Given the description of an element on the screen output the (x, y) to click on. 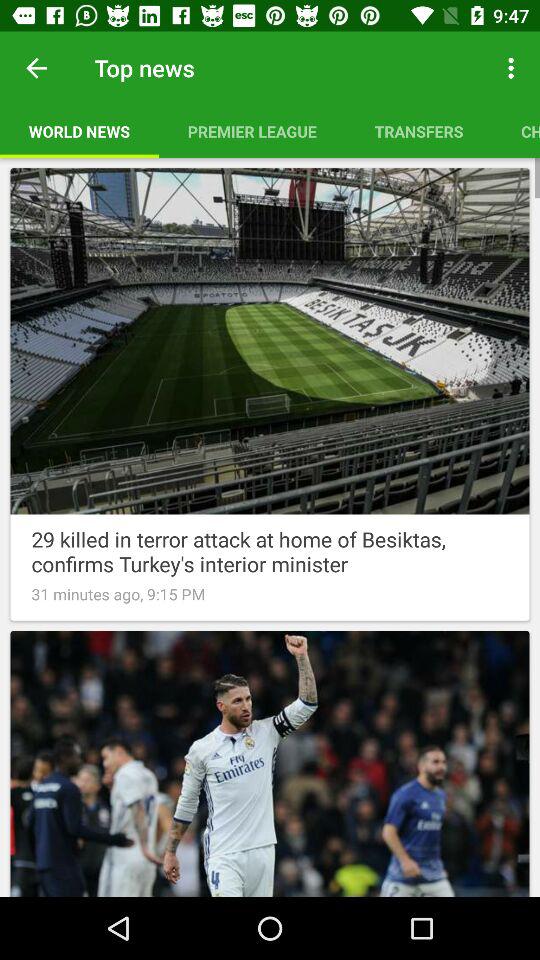
open the transfers icon (418, 131)
